Given the description of an element on the screen output the (x, y) to click on. 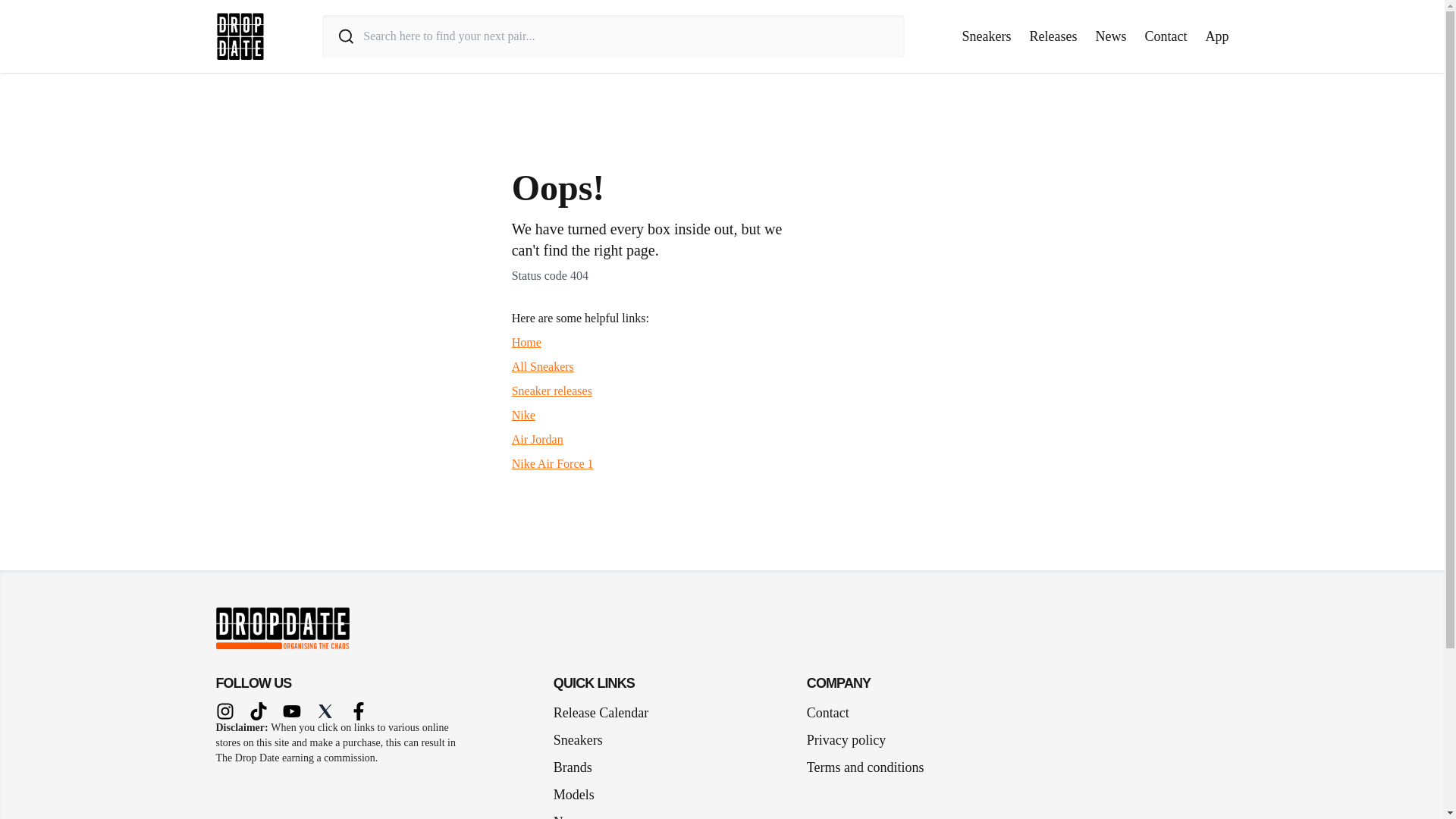
Sneakers (583, 740)
Release Calendar (600, 712)
Sneakers (986, 36)
Brands (578, 767)
Contact (827, 712)
Models (580, 794)
News (1109, 36)
All Sneakers (542, 366)
Privacy policy (845, 740)
Nike Air Force 1 (553, 463)
